Given the description of an element on the screen output the (x, y) to click on. 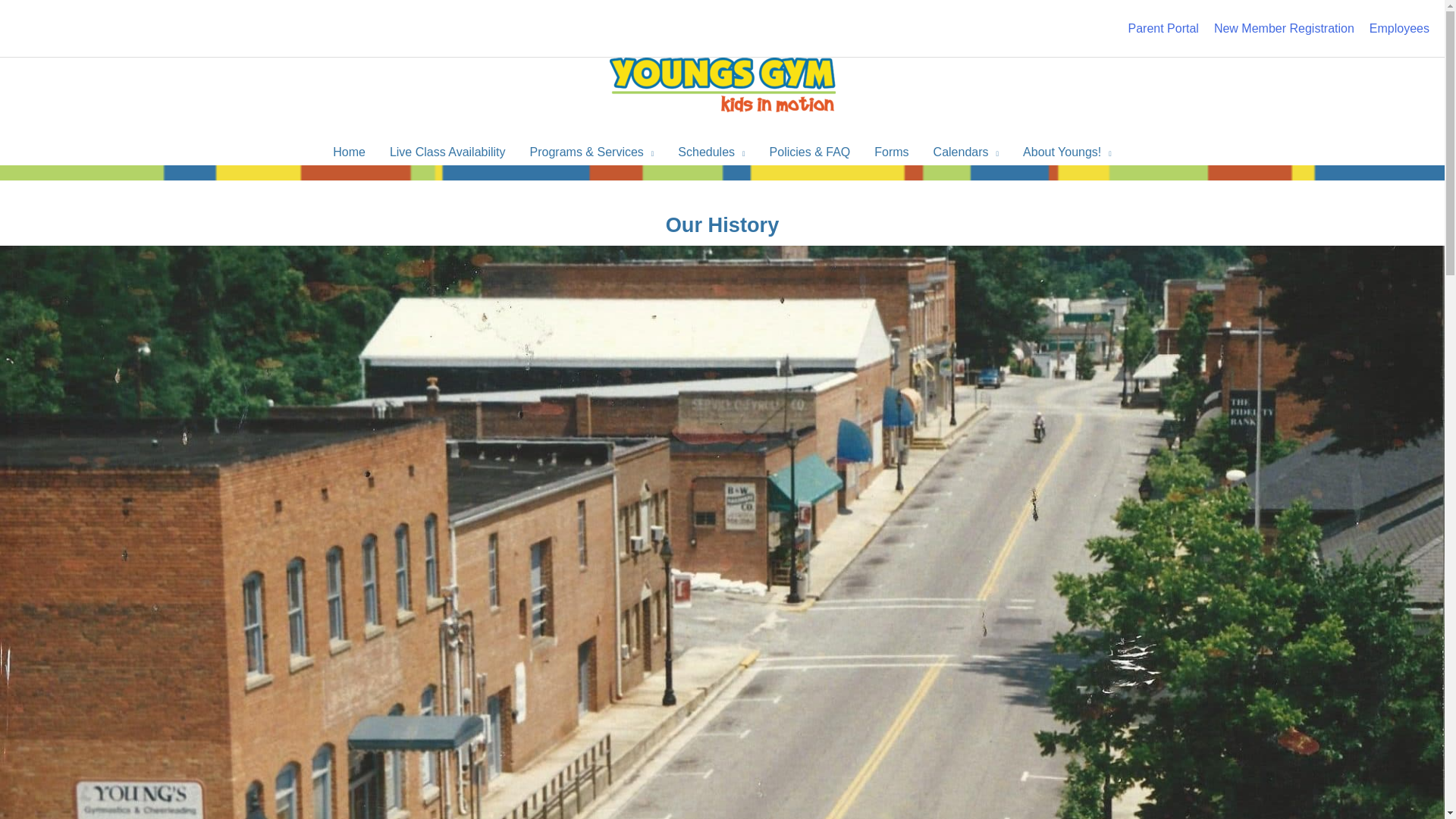
Calendars (965, 151)
Schedules (711, 151)
Live Class Availability (447, 151)
Employees (1399, 28)
Home (348, 151)
About Youngs! (1067, 151)
New Member Registration (1292, 28)
Forms (890, 151)
Parent Portal (1171, 28)
